Given the description of an element on the screen output the (x, y) to click on. 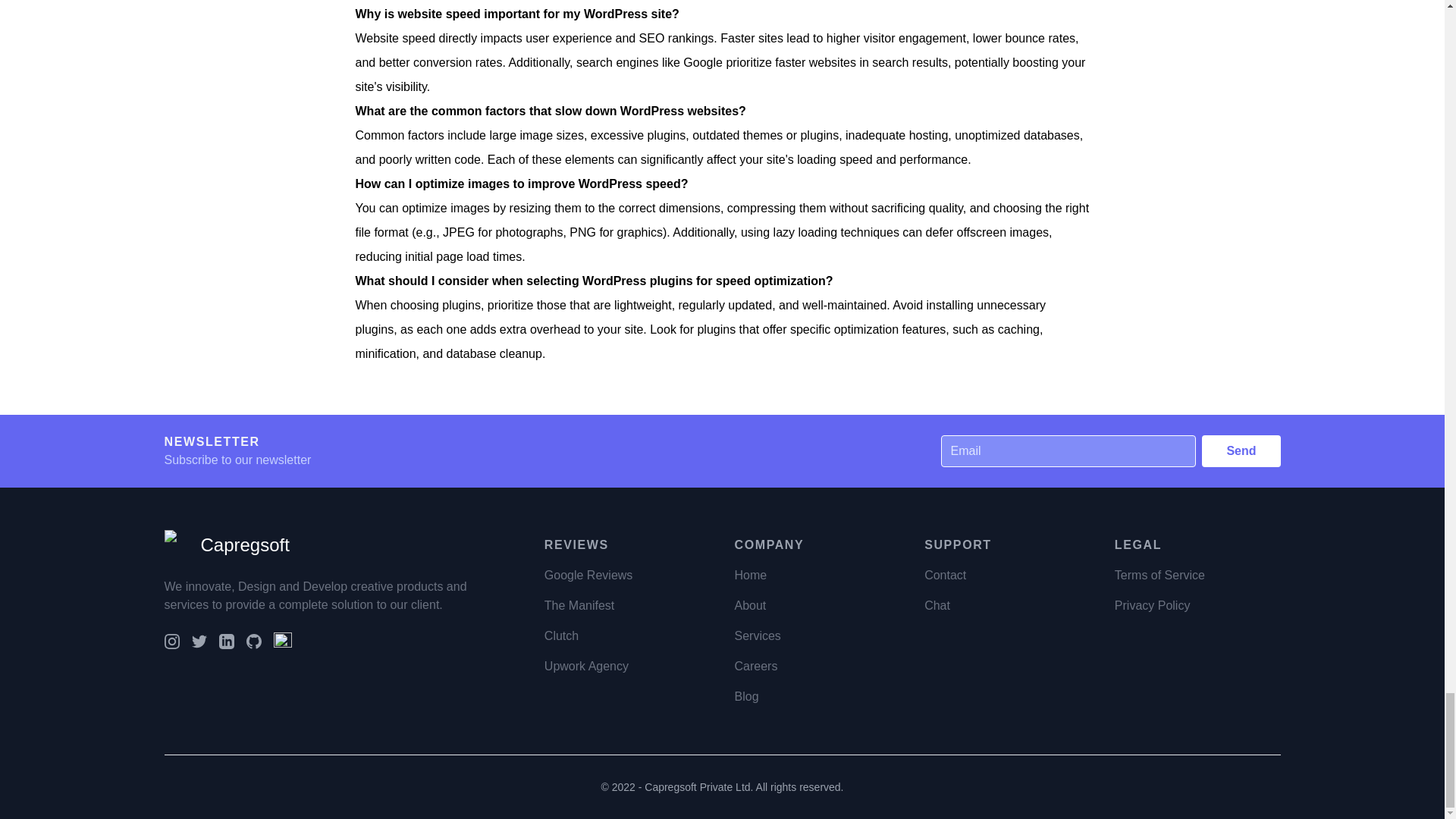
Privacy Policy (1153, 604)
Upwork Agency (586, 665)
About (749, 604)
Blog (745, 695)
Google Reviews (588, 574)
Careers (755, 665)
Chat (937, 604)
Contact (945, 574)
The Manifest (579, 604)
Clutch (561, 634)
Services (756, 634)
CapregSoft (178, 544)
Send (1240, 450)
Home (750, 574)
Capregsoft (225, 544)
